Given the description of an element on the screen output the (x, y) to click on. 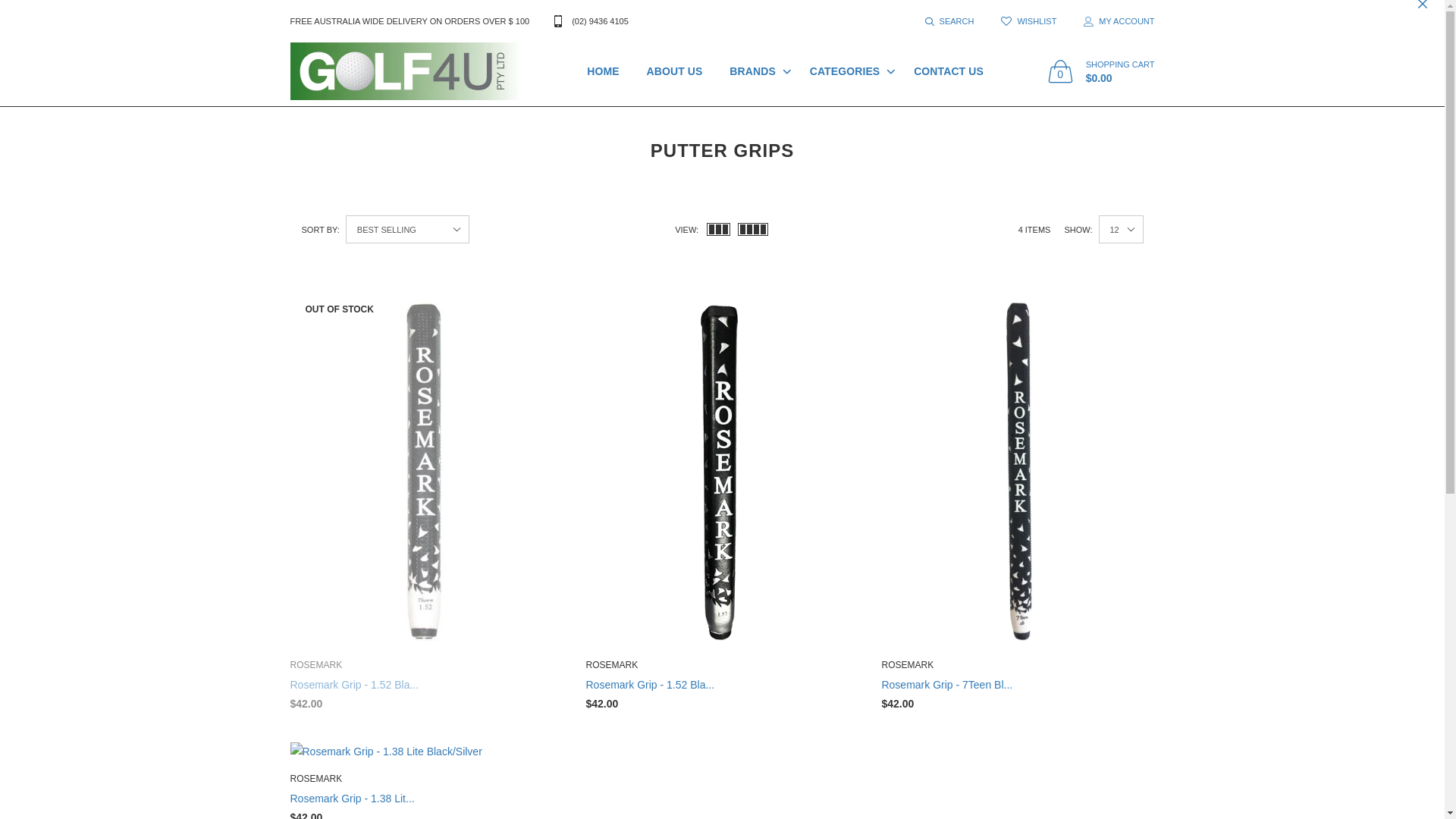
CATEGORIES Element type: text (848, 71)
Rosemark Grip - 1.52 Bla... Element type: text (353, 684)
Rosemark Grip - 1.52 Black/Silver Element type: hover (721, 470)
Rosemark Grip - 7Teen Black/White Element type: hover (1017, 470)
Rosemark Grip - 1.38 Lite Black/Silver Element type: hover (425, 751)
MY ACCOUNT Element type: text (1112, 21)
SEARCH Element type: text (949, 21)
Rosemark Grip - 1.52 Bla... Element type: text (649, 684)
Golf 4 U Australia Element type: hover (404, 71)
CONTACT US Element type: text (948, 71)
ABOUT US Element type: text (674, 71)
0
SHOPPING CART
$0.00 Element type: text (1101, 71)
WISHLIST Element type: text (1028, 21)
Rosemark Grip - 7Teen Bl... Element type: text (946, 684)
BRANDS Element type: text (755, 71)
HOME Element type: text (602, 71)
Rosemark Grip - 1.38 Lit... Element type: text (351, 798)
Rosemark Grip - 1.52 Black/White Element type: hover (425, 470)
